Given the description of an element on the screen output the (x, y) to click on. 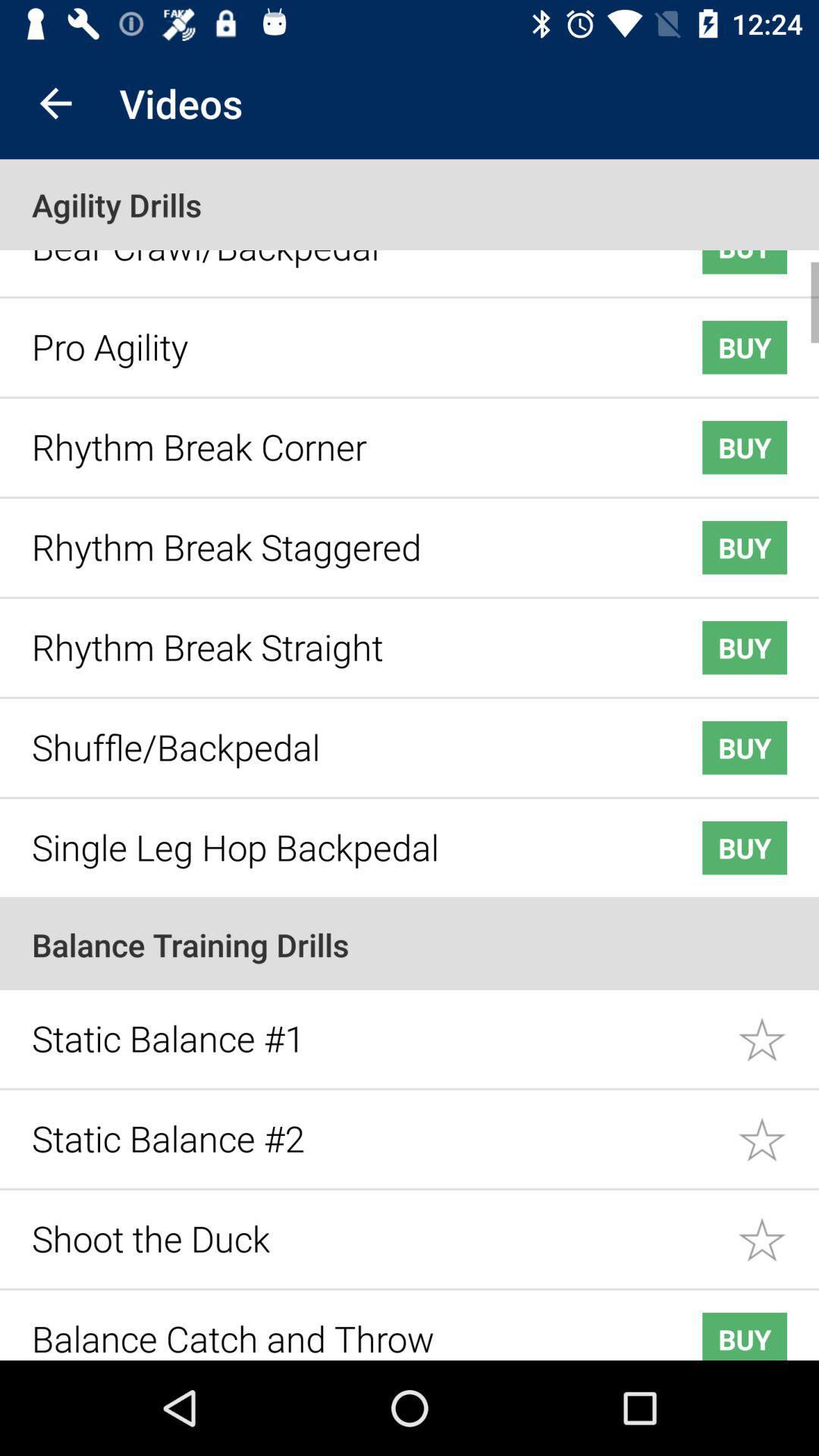
add to favorites (778, 1228)
